Given the description of an element on the screen output the (x, y) to click on. 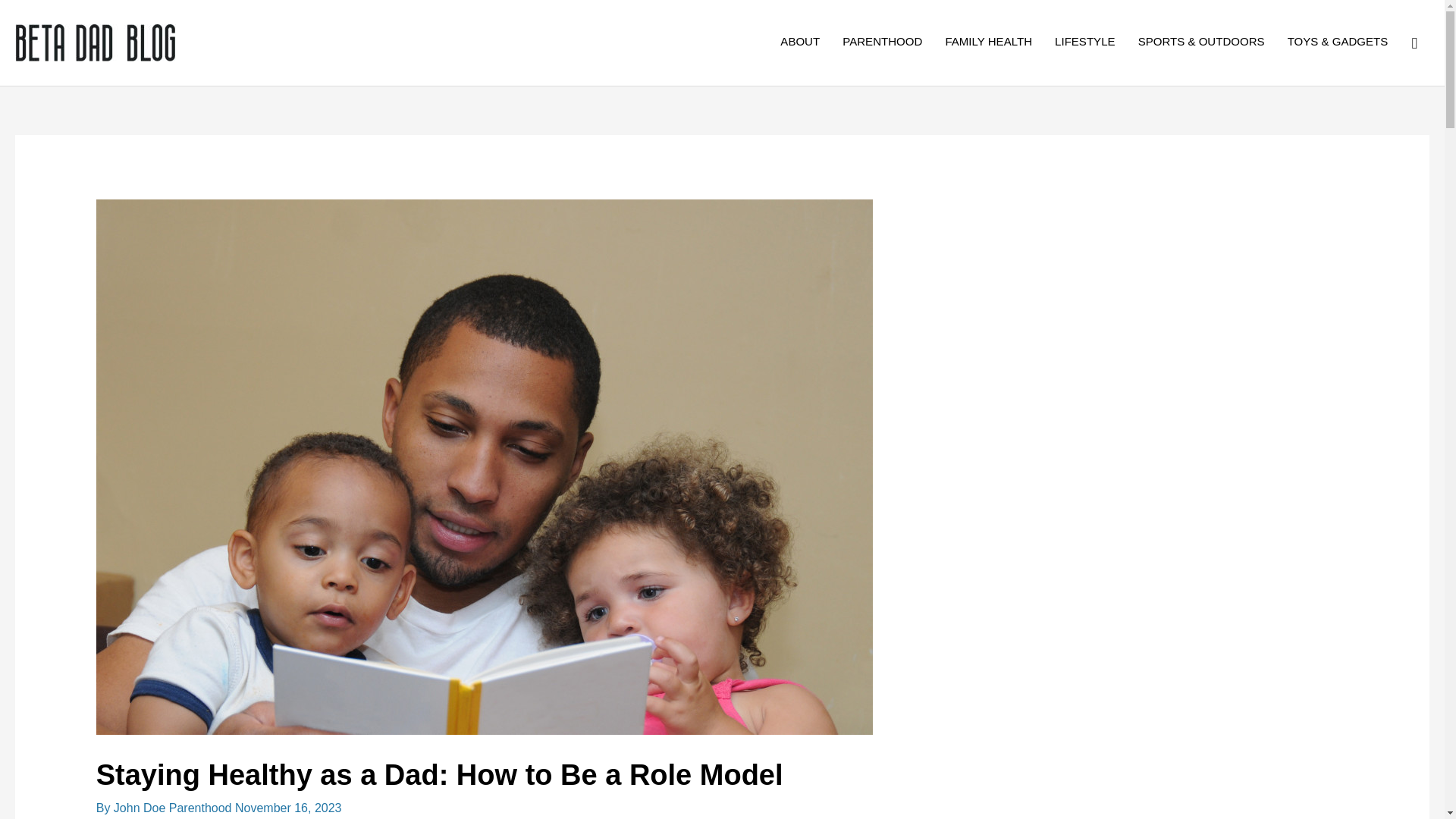
LIFESTYLE (1084, 40)
PARENTHOOD (882, 40)
John Doe (140, 807)
ABOUT (799, 40)
Parenthood (199, 807)
View all posts by John Doe (140, 807)
FAMILY HEALTH (988, 40)
